Given the description of an element on the screen output the (x, y) to click on. 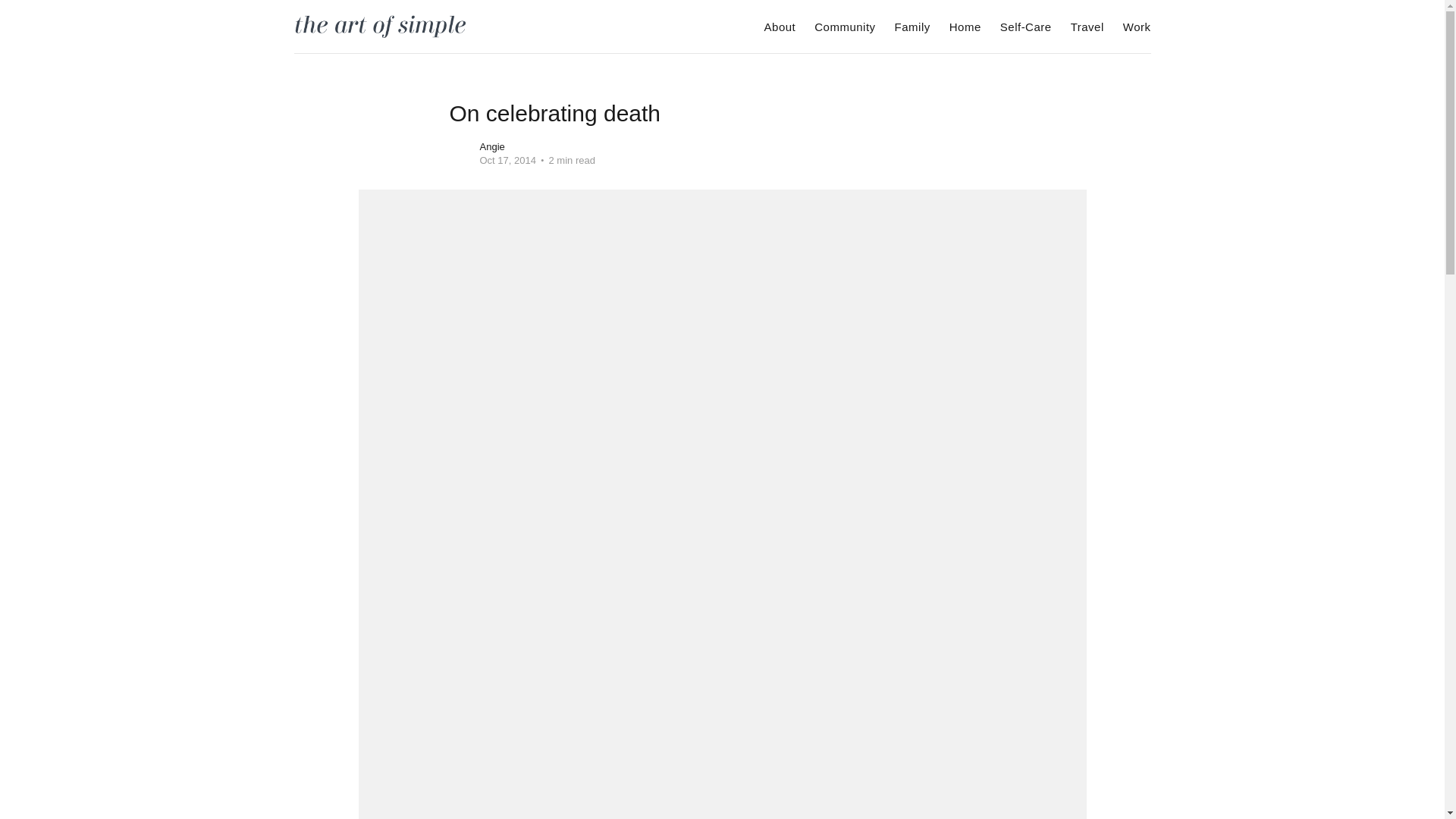
Home (965, 26)
Community (844, 26)
Self-Care (1025, 26)
Family (912, 26)
Work (1136, 26)
Travel (1086, 26)
Angie (491, 146)
About (780, 26)
